Given the description of an element on the screen output the (x, y) to click on. 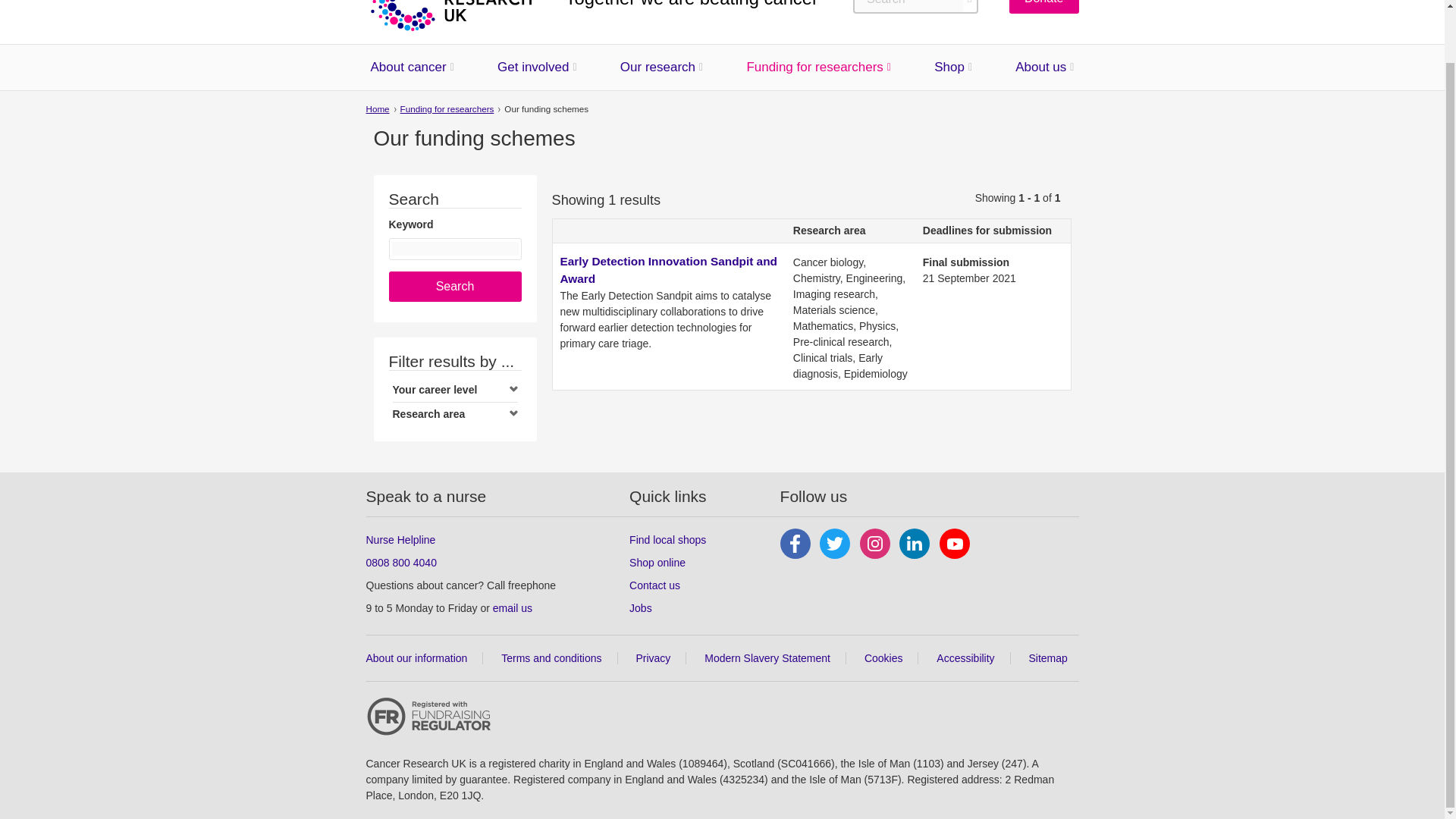
Get involved (533, 67)
Cancer Research UK Homepage (449, 15)
Search (454, 286)
Donate (1043, 6)
About cancer (407, 67)
